Given the description of an element on the screen output the (x, y) to click on. 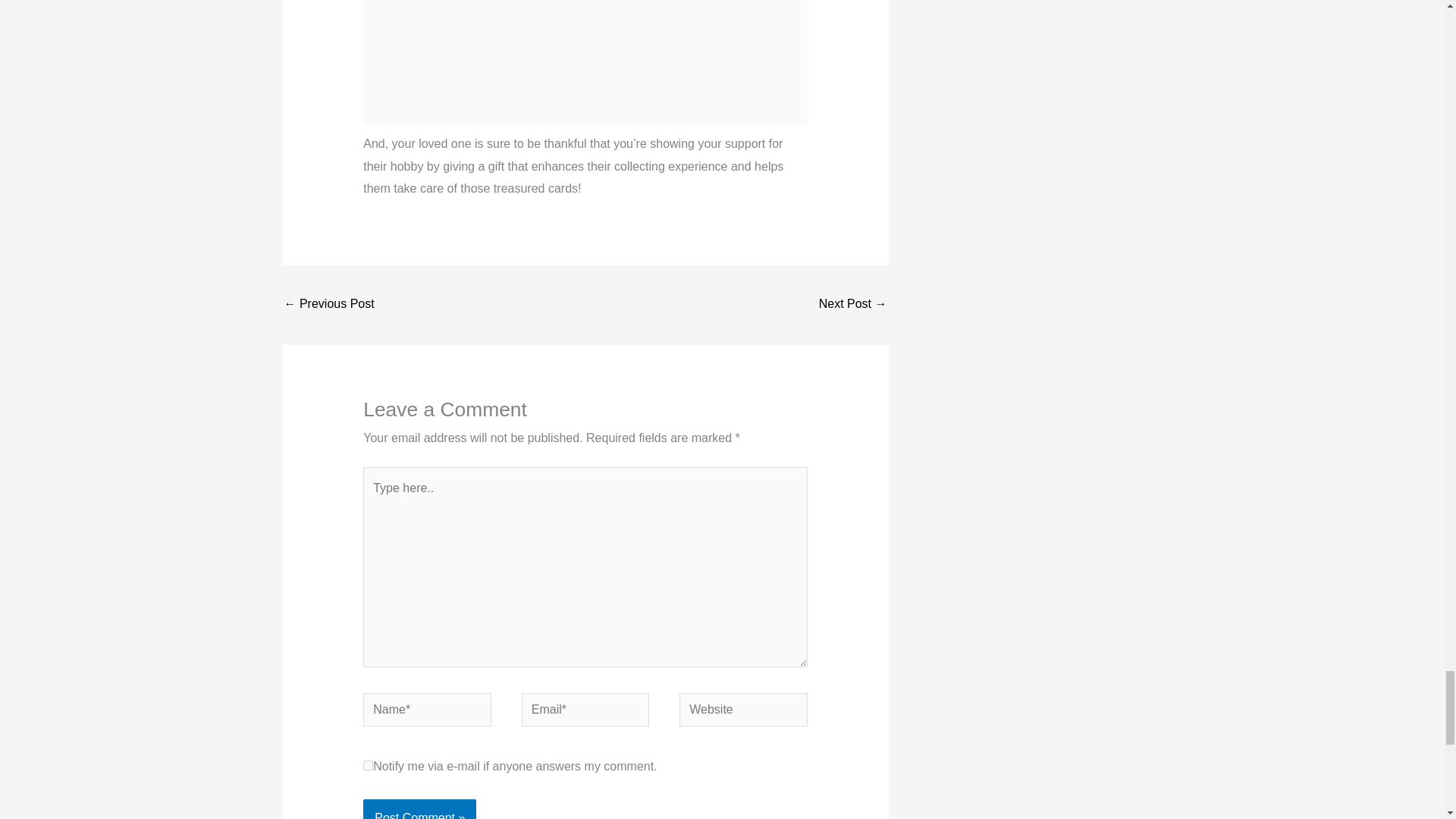
How to Help Your Child Recover From an Injury (852, 305)
on (367, 765)
5 Tips For Choosing The Perfect Family Vacation Rentals (328, 305)
